Given the description of an element on the screen output the (x, y) to click on. 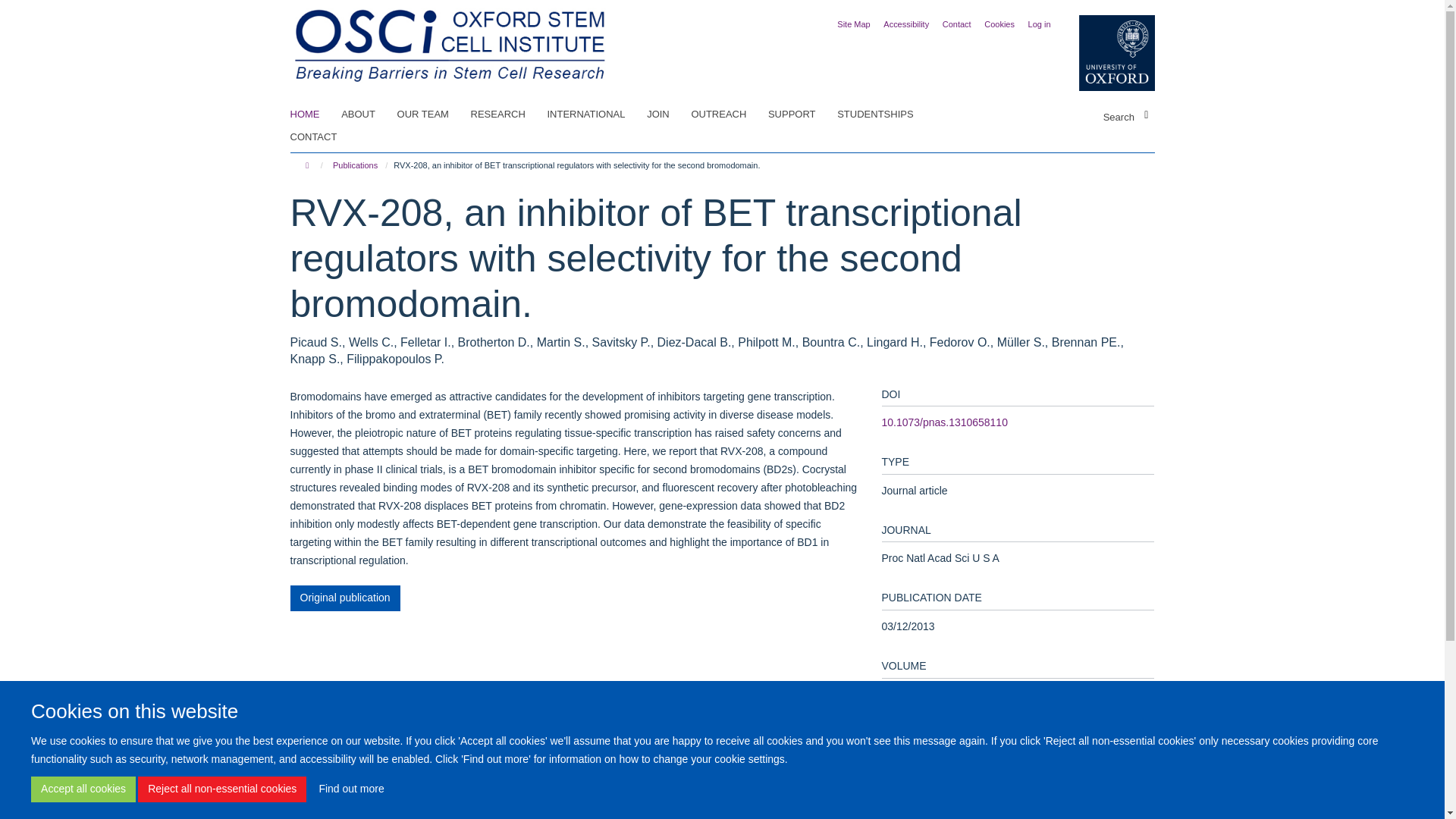
Reject all non-essential cookies (221, 789)
Accept all cookies (82, 789)
